Given the description of an element on the screen output the (x, y) to click on. 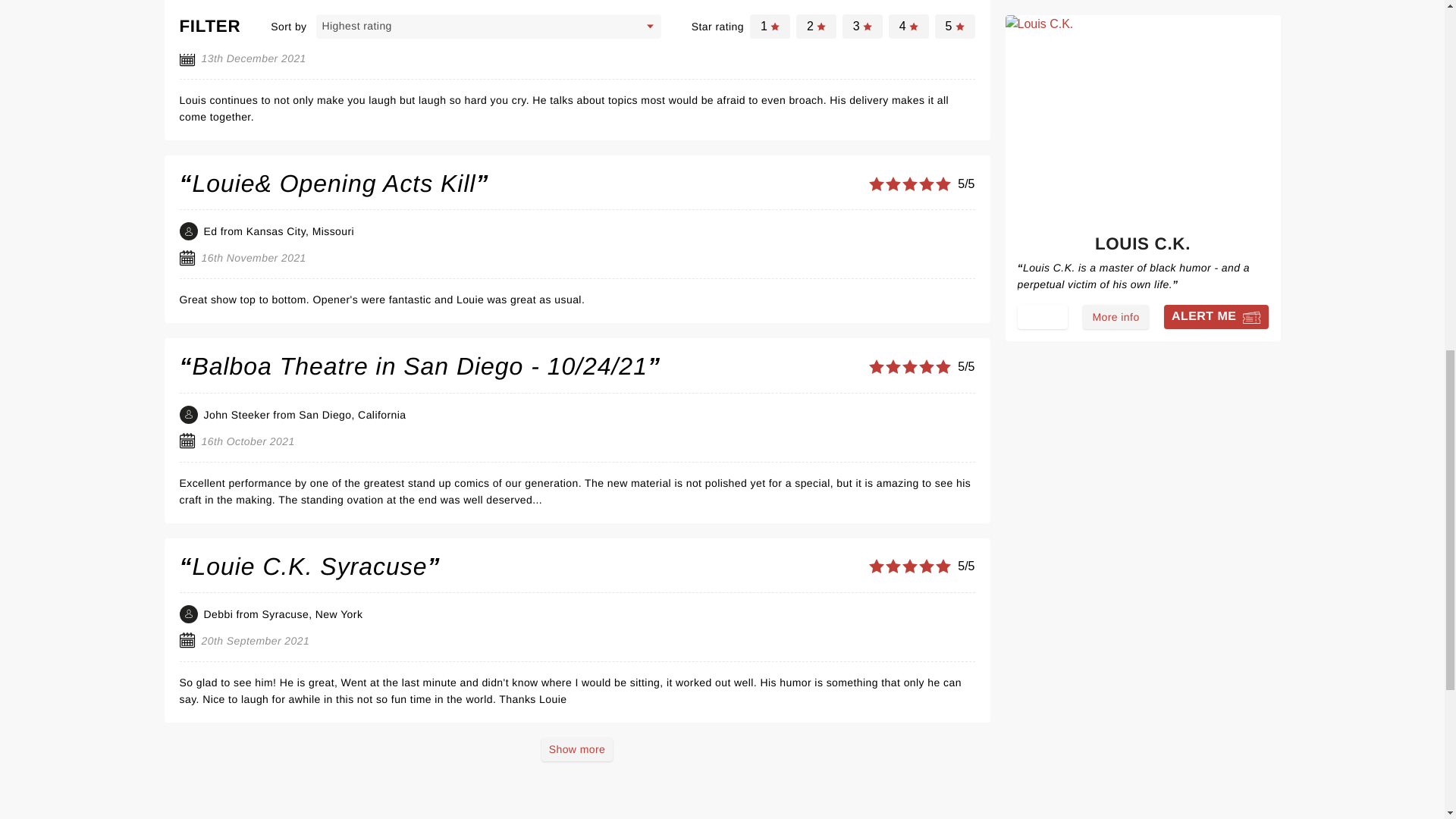
Show more (576, 749)
